Given the description of an element on the screen output the (x, y) to click on. 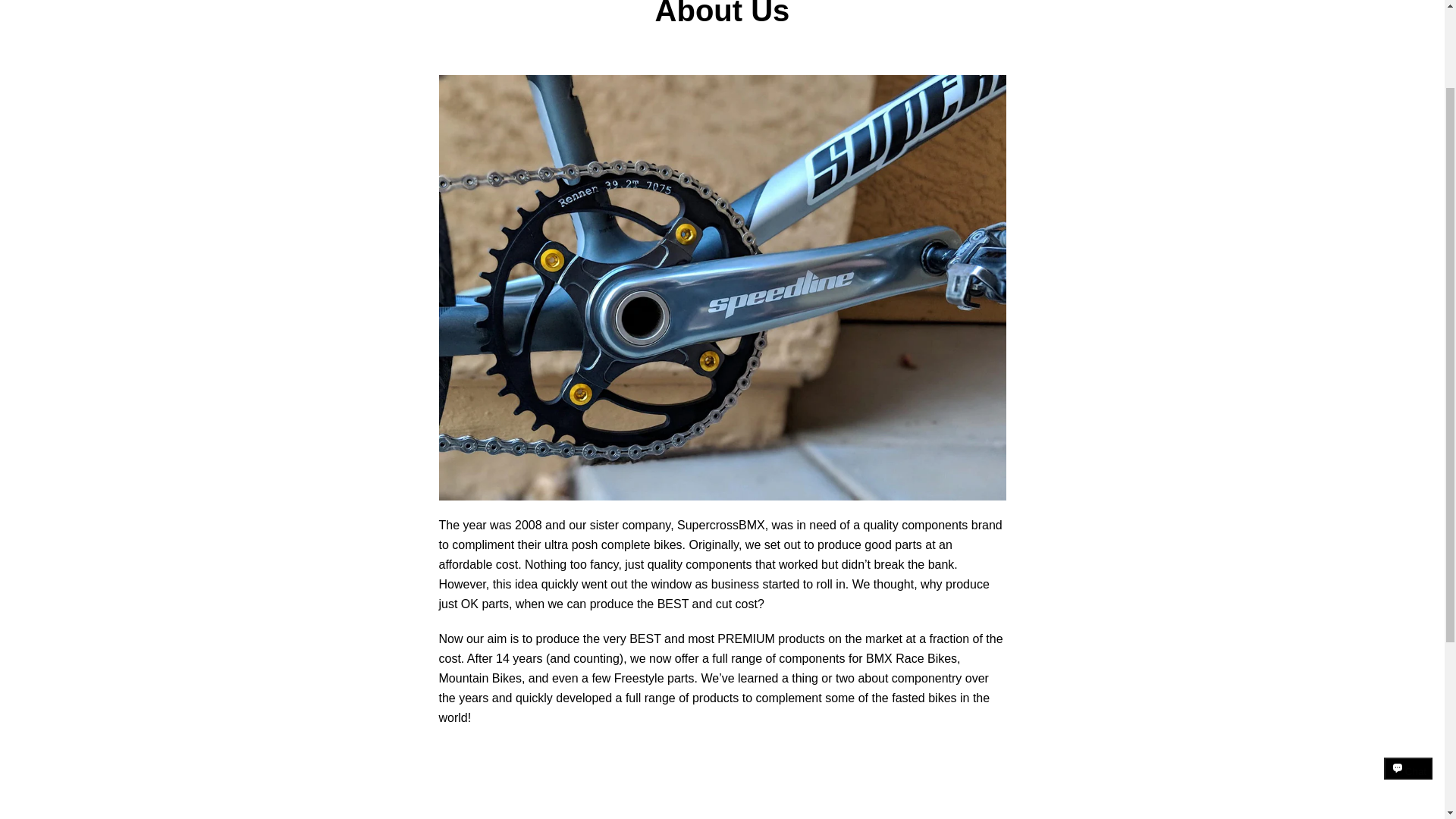
SUBSCRIBE (1029, 571)
Instagram (399, 654)
Speedline Parts (973, 645)
Facebook (372, 654)
Powered by Shopify (1004, 654)
Speedline Parts on Facebook (372, 654)
Shopify online store chat (1408, 667)
Speedline Parts on Instagram (399, 654)
